Given the description of an element on the screen output the (x, y) to click on. 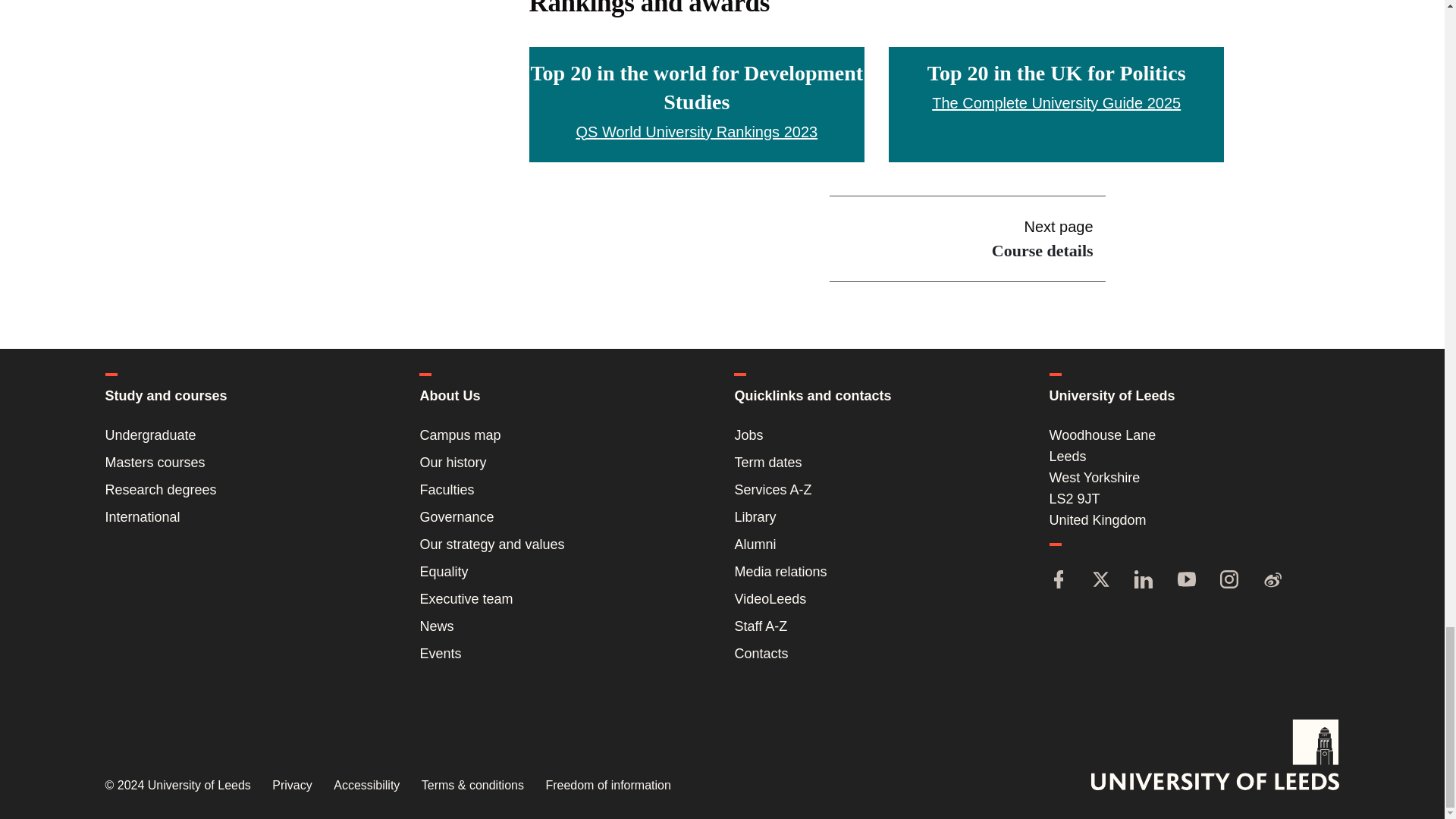
Go to Accessibility page (365, 784)
Go to Freedom of information page (606, 784)
Go to Privacy page (291, 784)
